Given the description of an element on the screen output the (x, y) to click on. 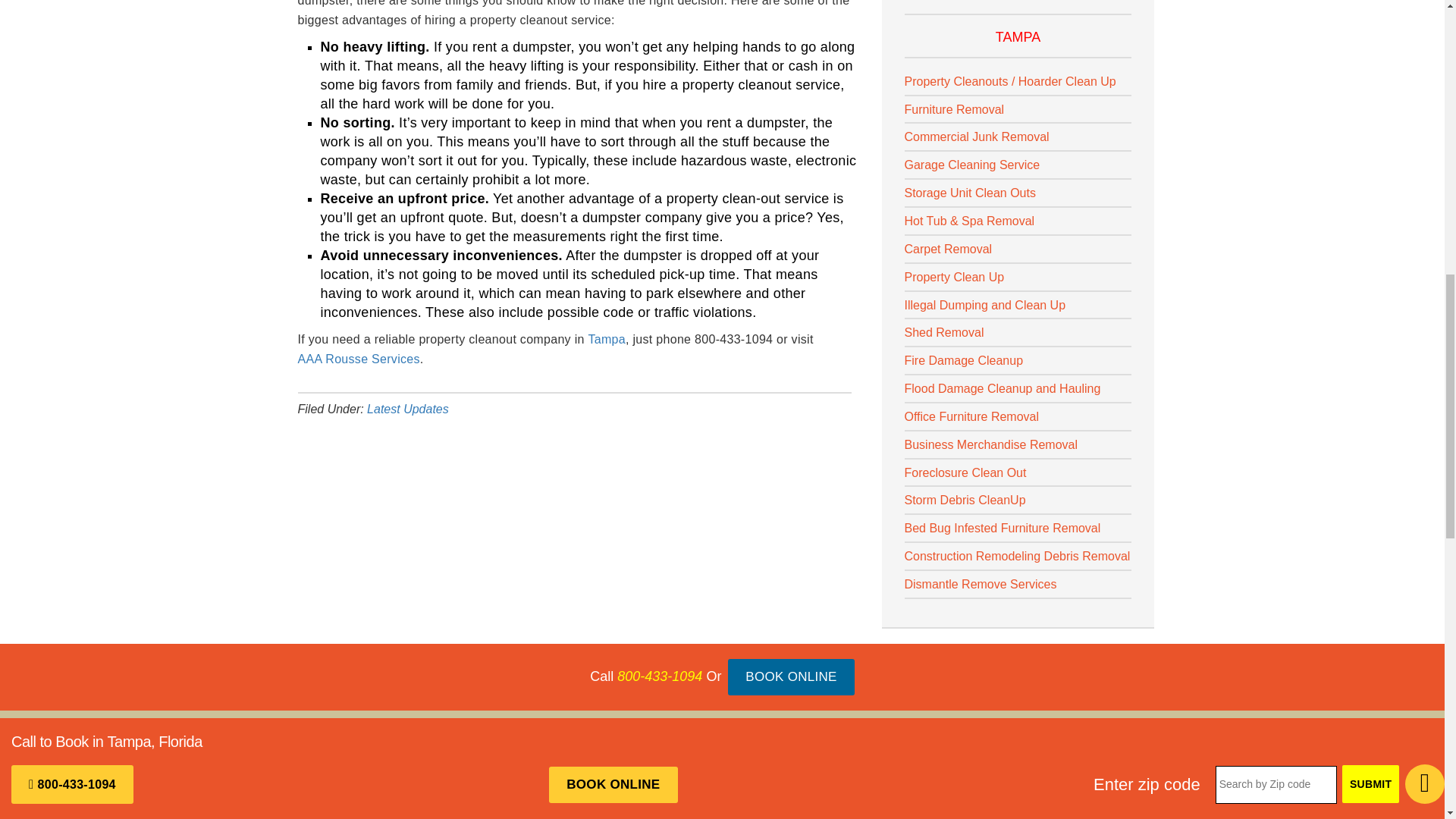
Latest Updates (407, 408)
AAA Rousse Services (358, 359)
Garage Cleaning Service (971, 164)
Furniture Removal (954, 109)
Commercial Junk Removal (976, 136)
Tampa (607, 339)
